Given the description of an element on the screen output the (x, y) to click on. 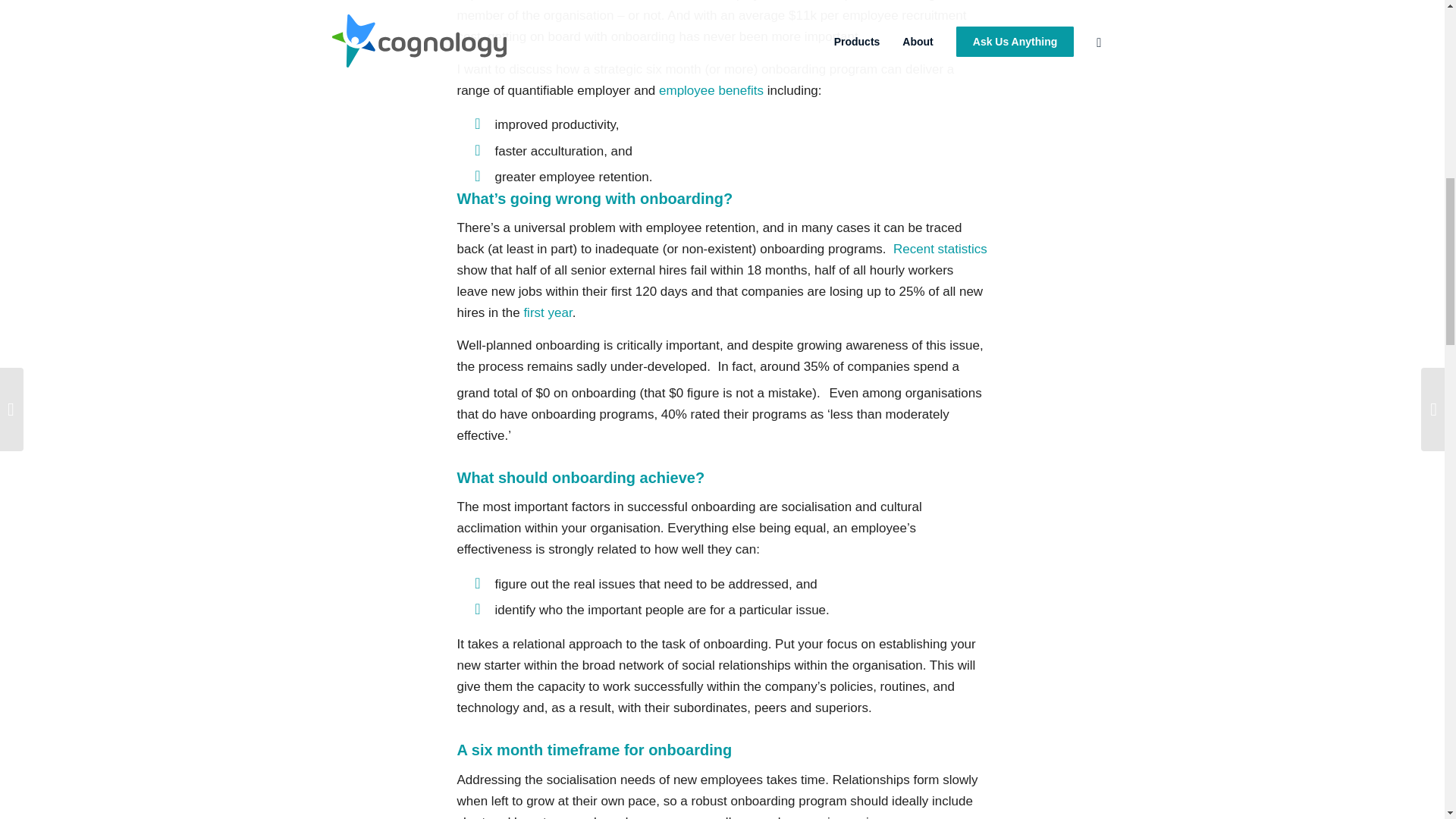
first year (547, 312)
Recent statistics (940, 248)
employee benefits (710, 90)
